Given the description of an element on the screen output the (x, y) to click on. 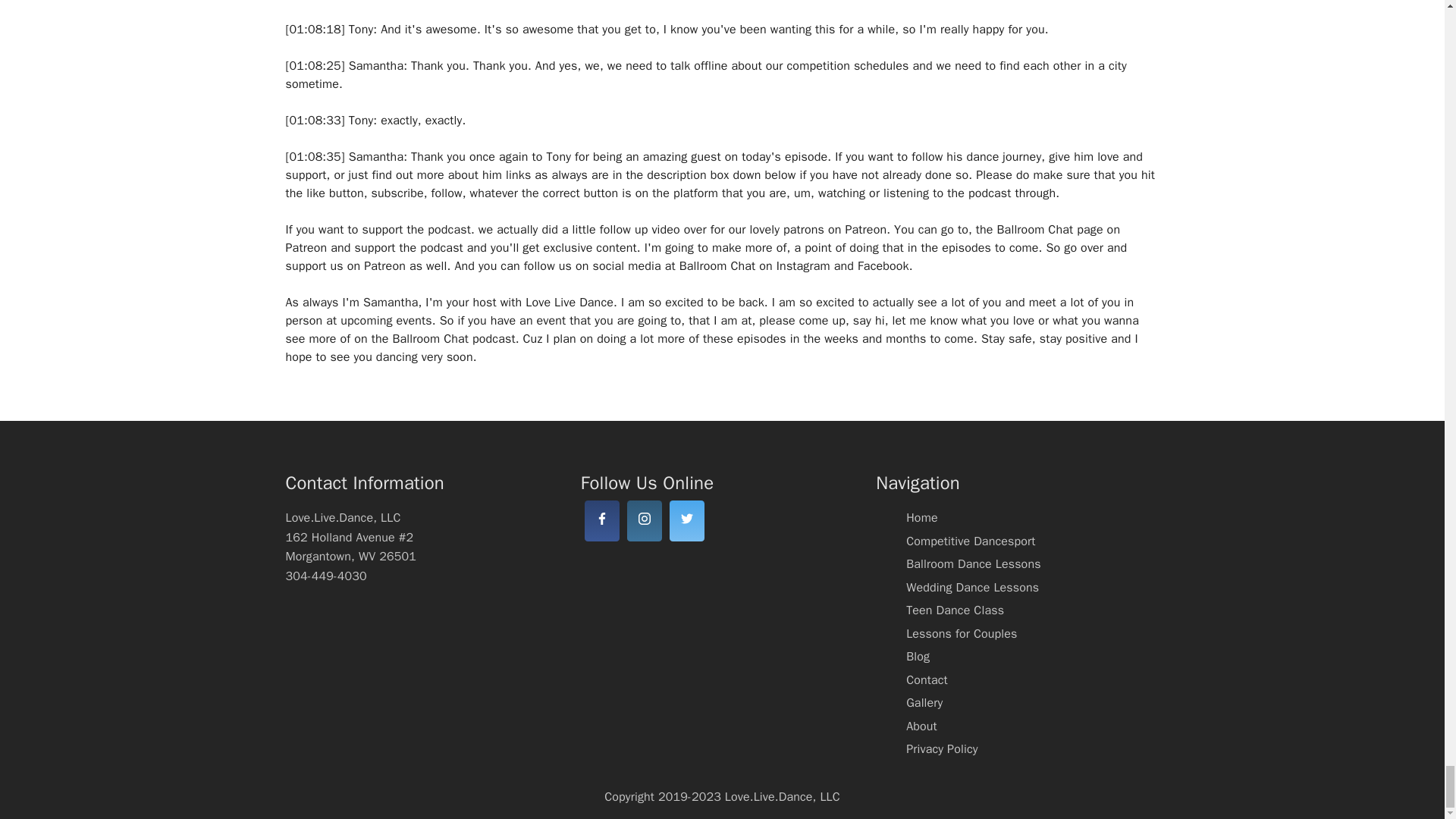
Contact (926, 679)
Competitive Dancesport (970, 540)
Gallery (923, 702)
About (921, 726)
Lessons for Couples (960, 633)
Ballroom Dance Lessons (973, 563)
Home (921, 517)
Wedding Dance Lessons (972, 587)
Privacy Policy (940, 749)
Teen Dance Class (954, 610)
Blog (917, 656)
